Given the description of an element on the screen output the (x, y) to click on. 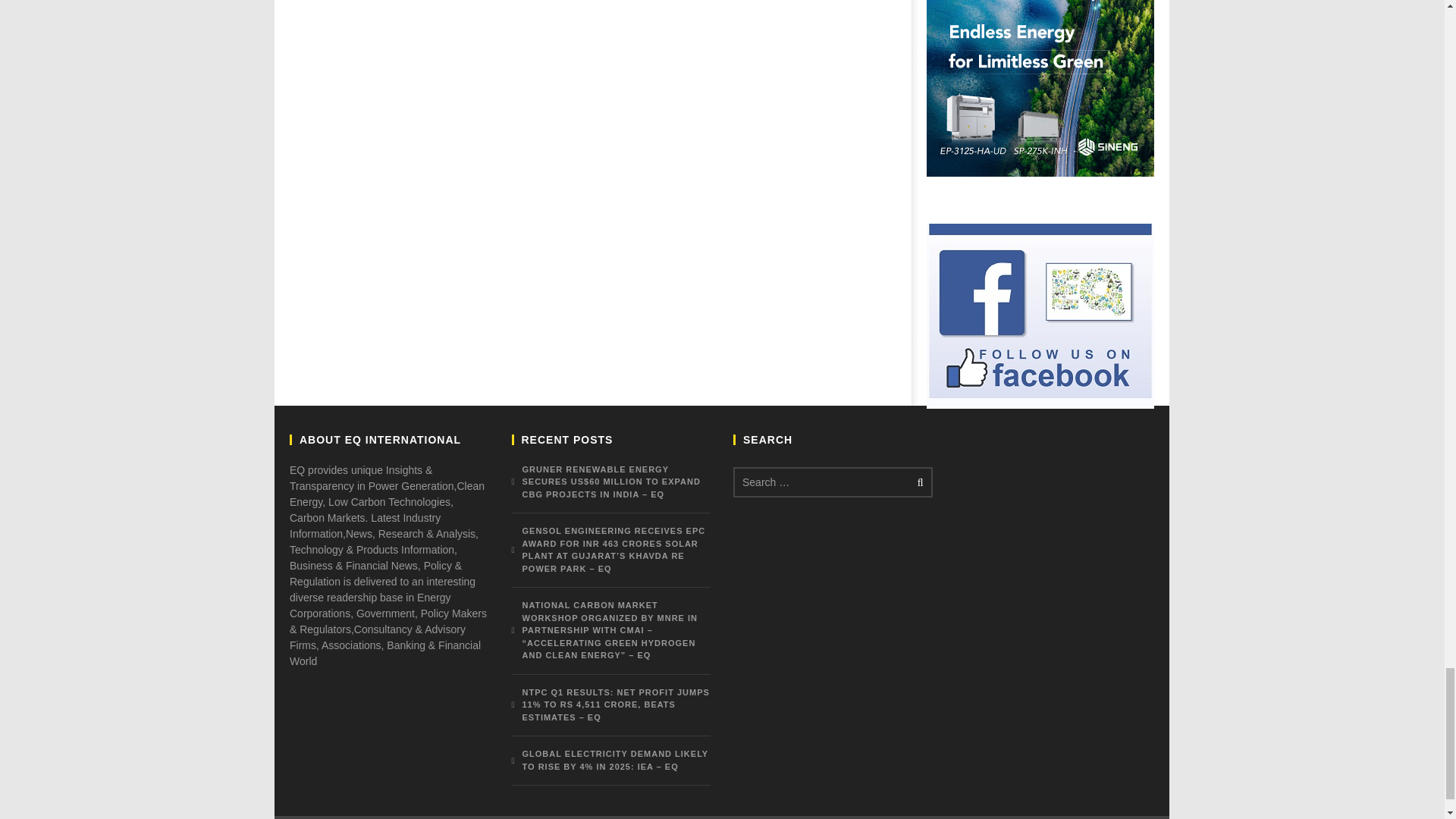
Search (917, 482)
Search (917, 482)
